Given the description of an element on the screen output the (x, y) to click on. 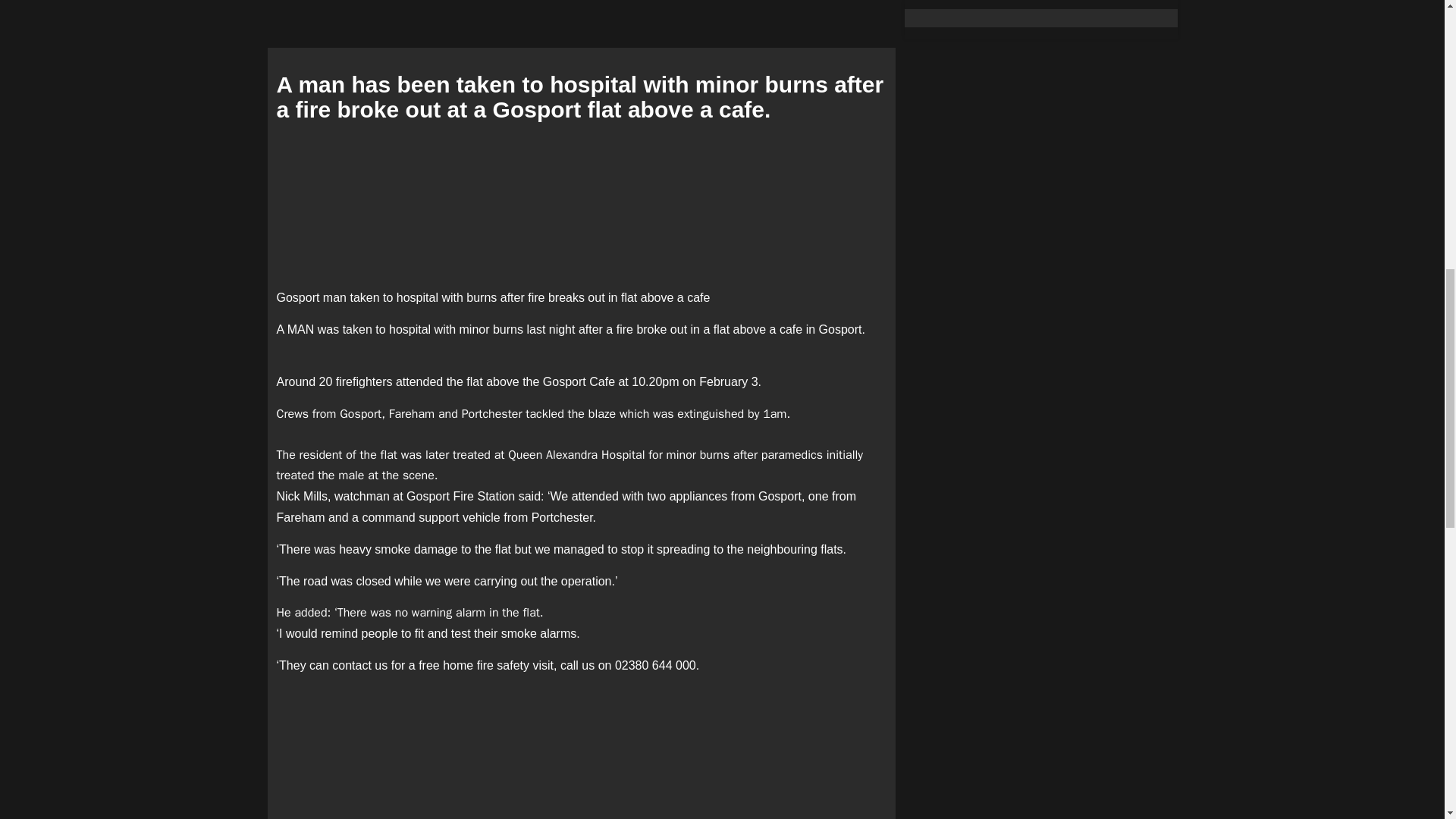
Advertisement (580, 753)
Advertisement (580, 205)
Gosport (564, 381)
